Given the description of an element on the screen output the (x, y) to click on. 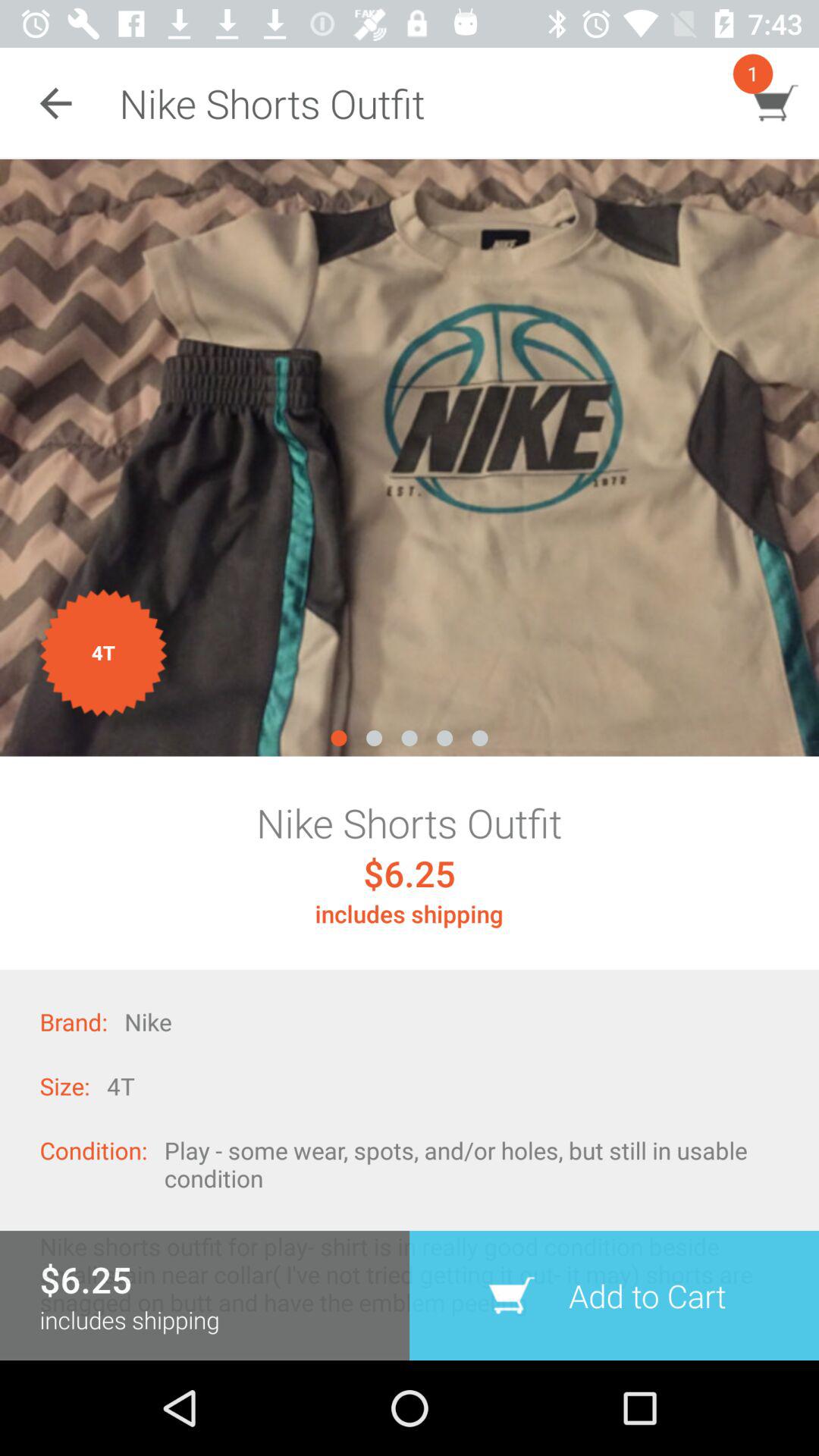
turn off the item next to nike shorts outfit (55, 103)
